Given the description of an element on the screen output the (x, y) to click on. 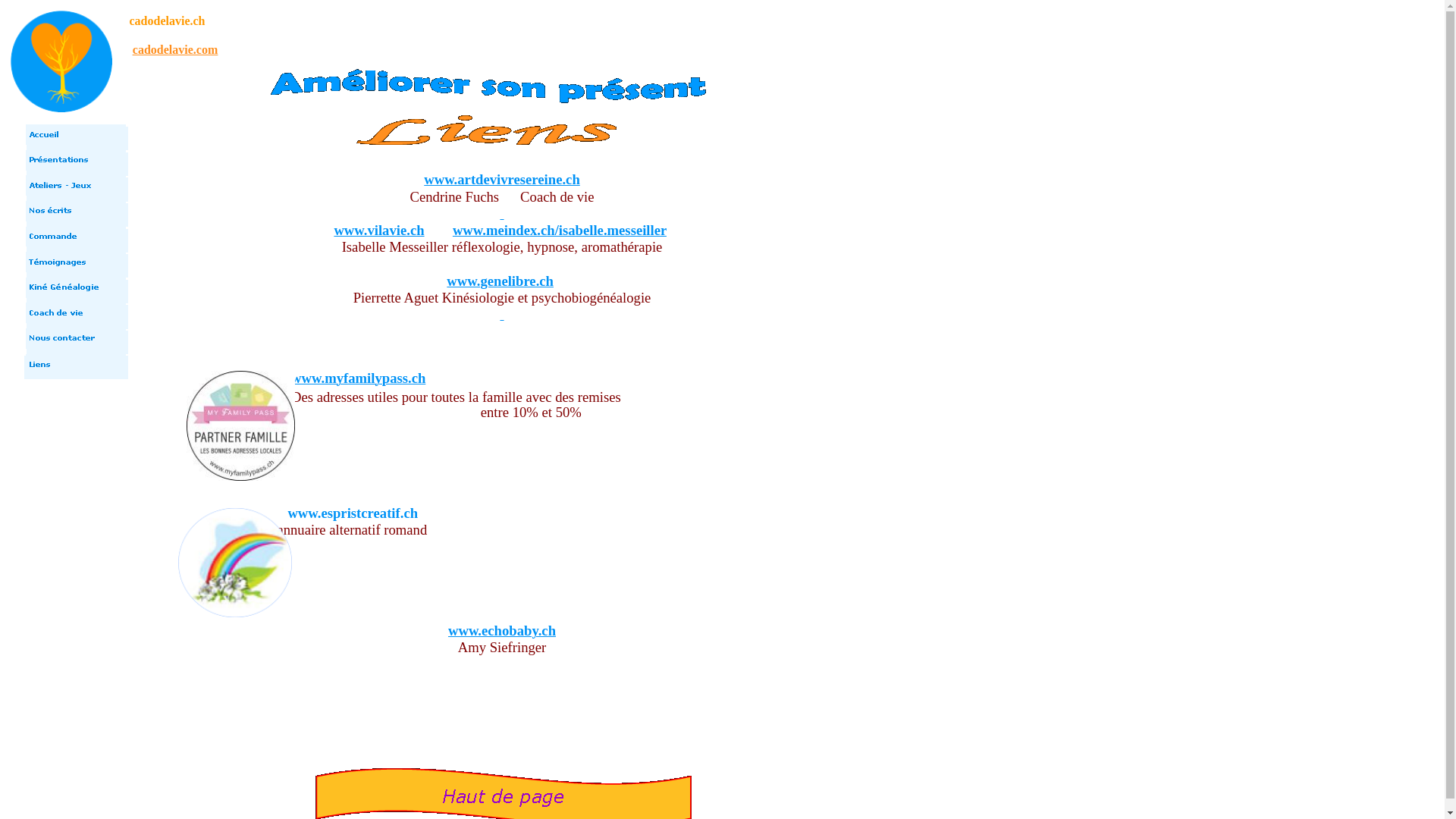
www.myfamilypass.ch Element type: text (358, 380)
www.echobaby.ch Element type: text (501, 632)
www.vilavie.ch Element type: text (378, 231)
  Element type: text (502, 214)
  Element type: text (502, 315)
cadodelavie.com Element type: text (174, 50)
www.artdevivresereine.ch Element type: text (501, 180)
www.genelibre.ch Element type: text (499, 282)
www.meindex.ch/isabelle.messeiller Element type: text (559, 231)
